Given the description of an element on the screen output the (x, y) to click on. 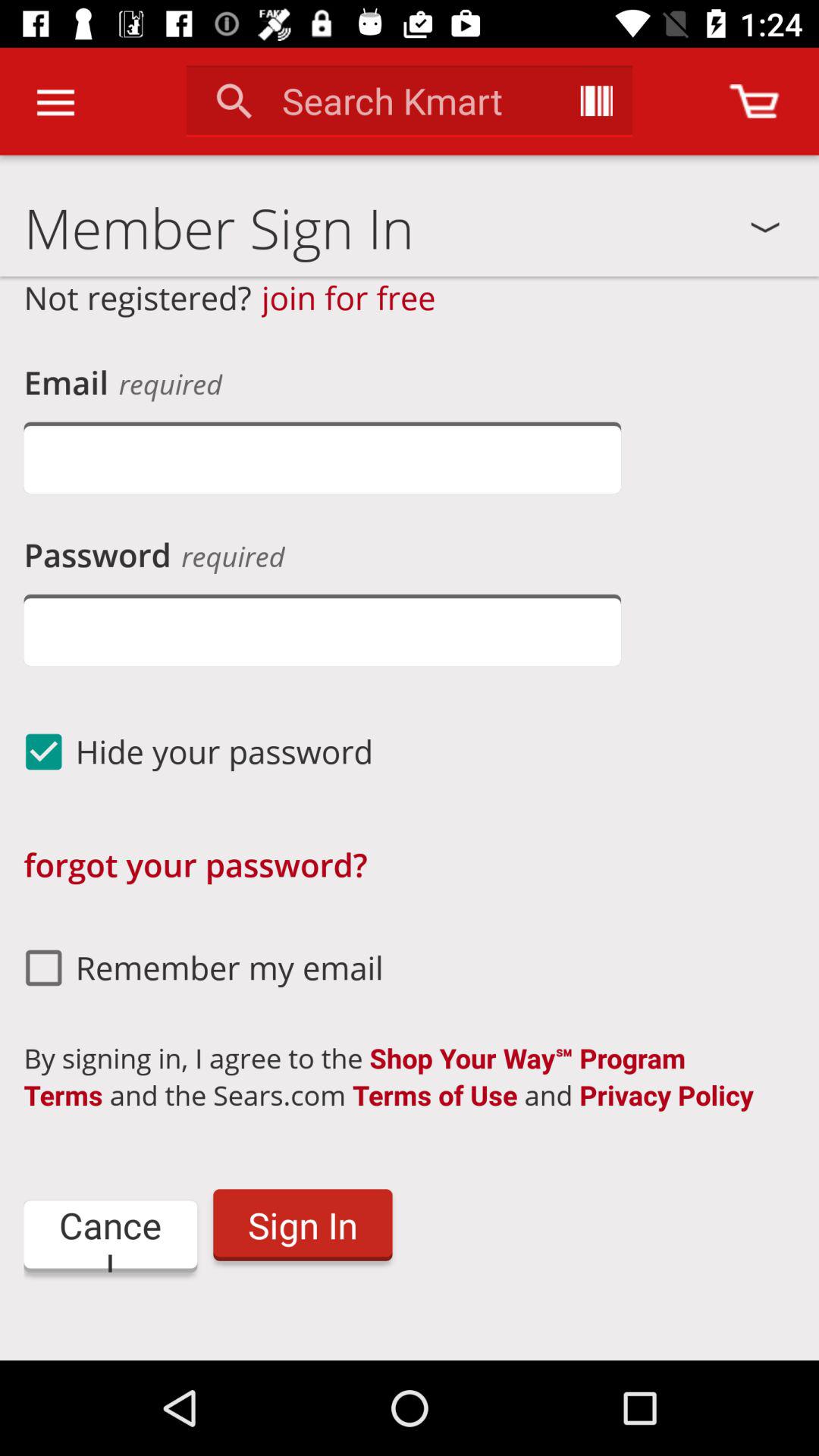
enter password (322, 630)
